Given the description of an element on the screen output the (x, y) to click on. 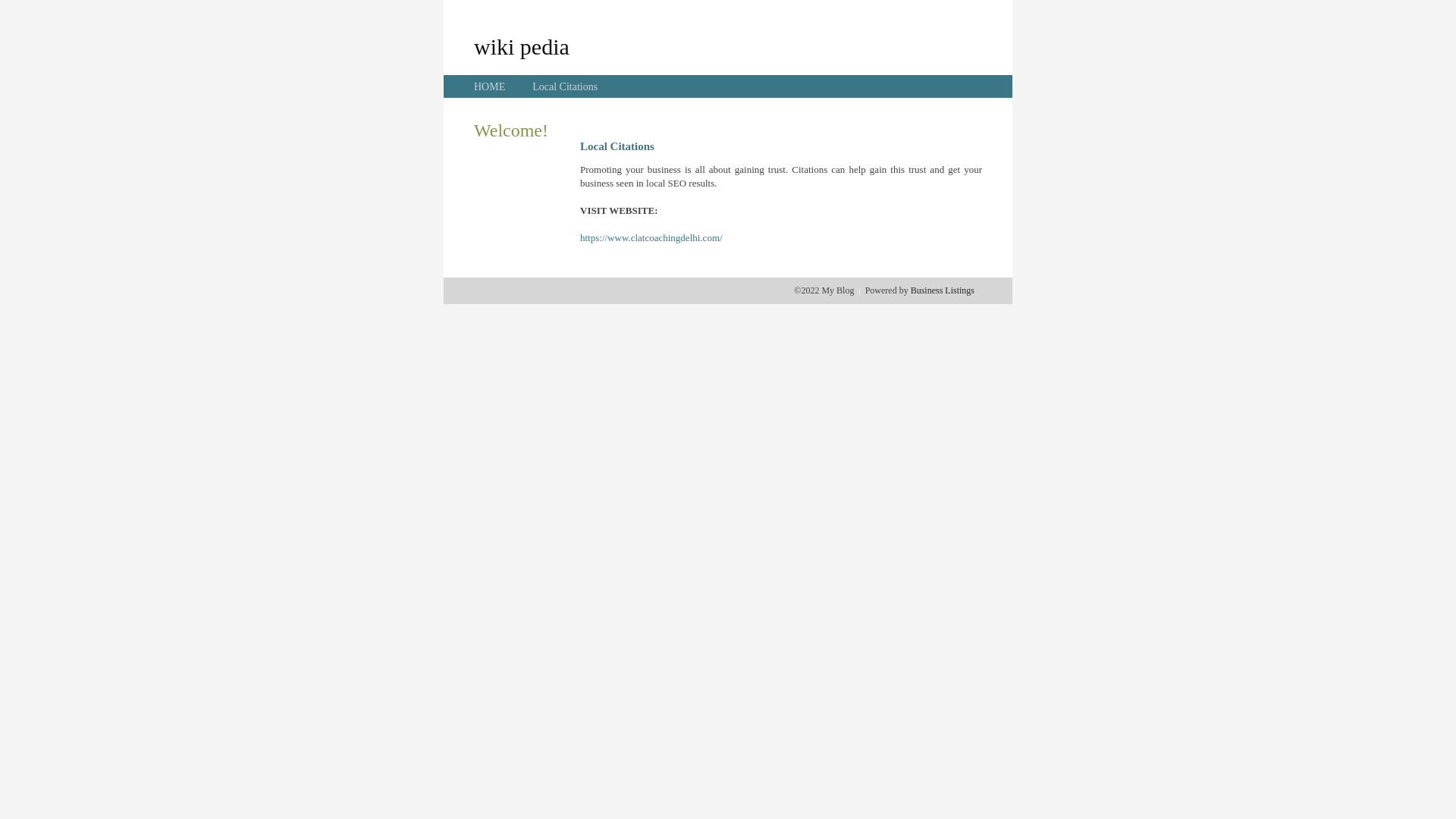
Local Citations Element type: text (564, 86)
https://www.clatcoachingdelhi.com/ Element type: text (651, 237)
HOME Element type: text (489, 86)
Business Listings Element type: text (942, 290)
wiki pedia Element type: text (521, 46)
